Given the description of an element on the screen output the (x, y) to click on. 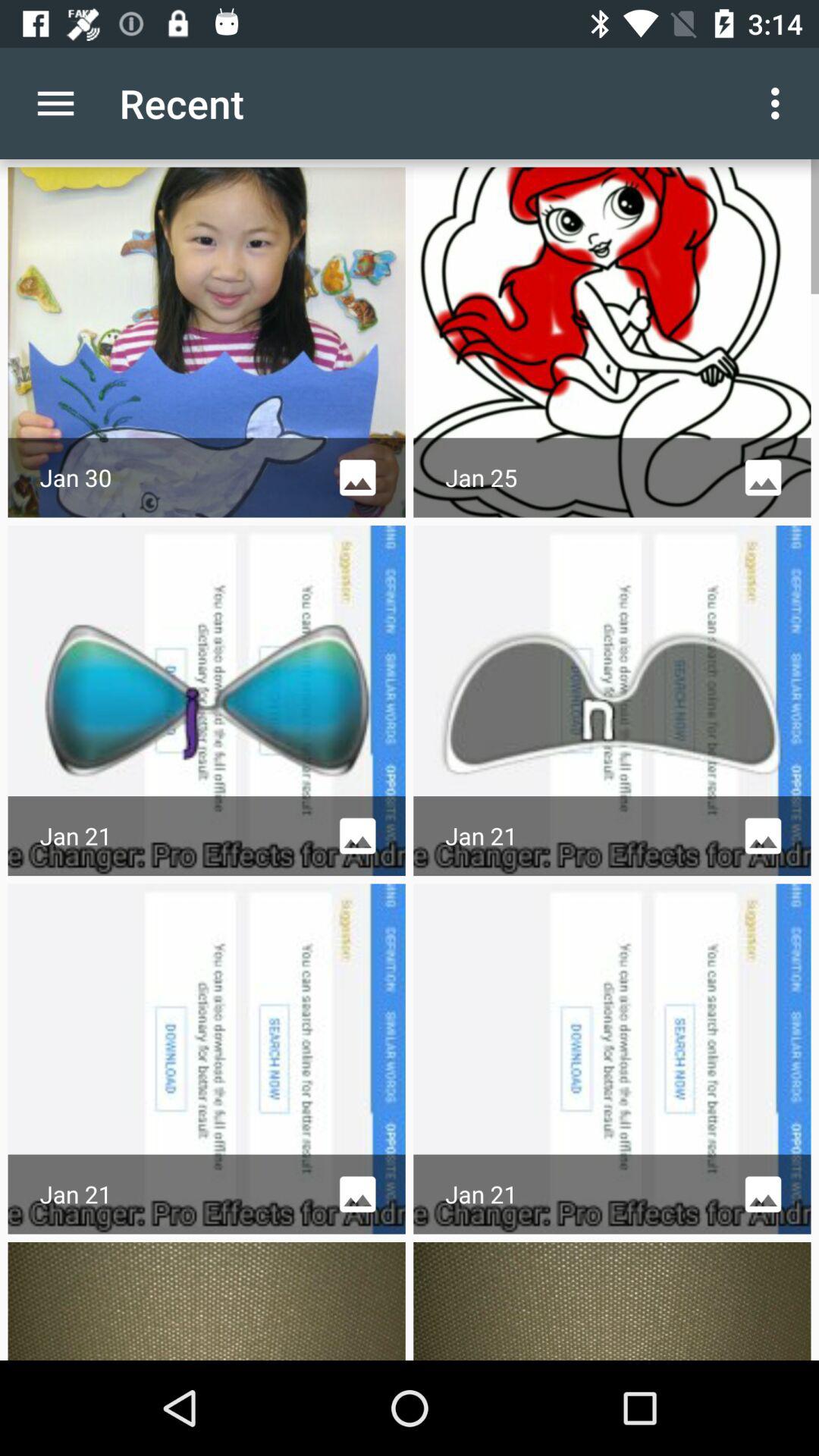
launch app to the left of the recent (55, 103)
